Given the description of an element on the screen output the (x, y) to click on. 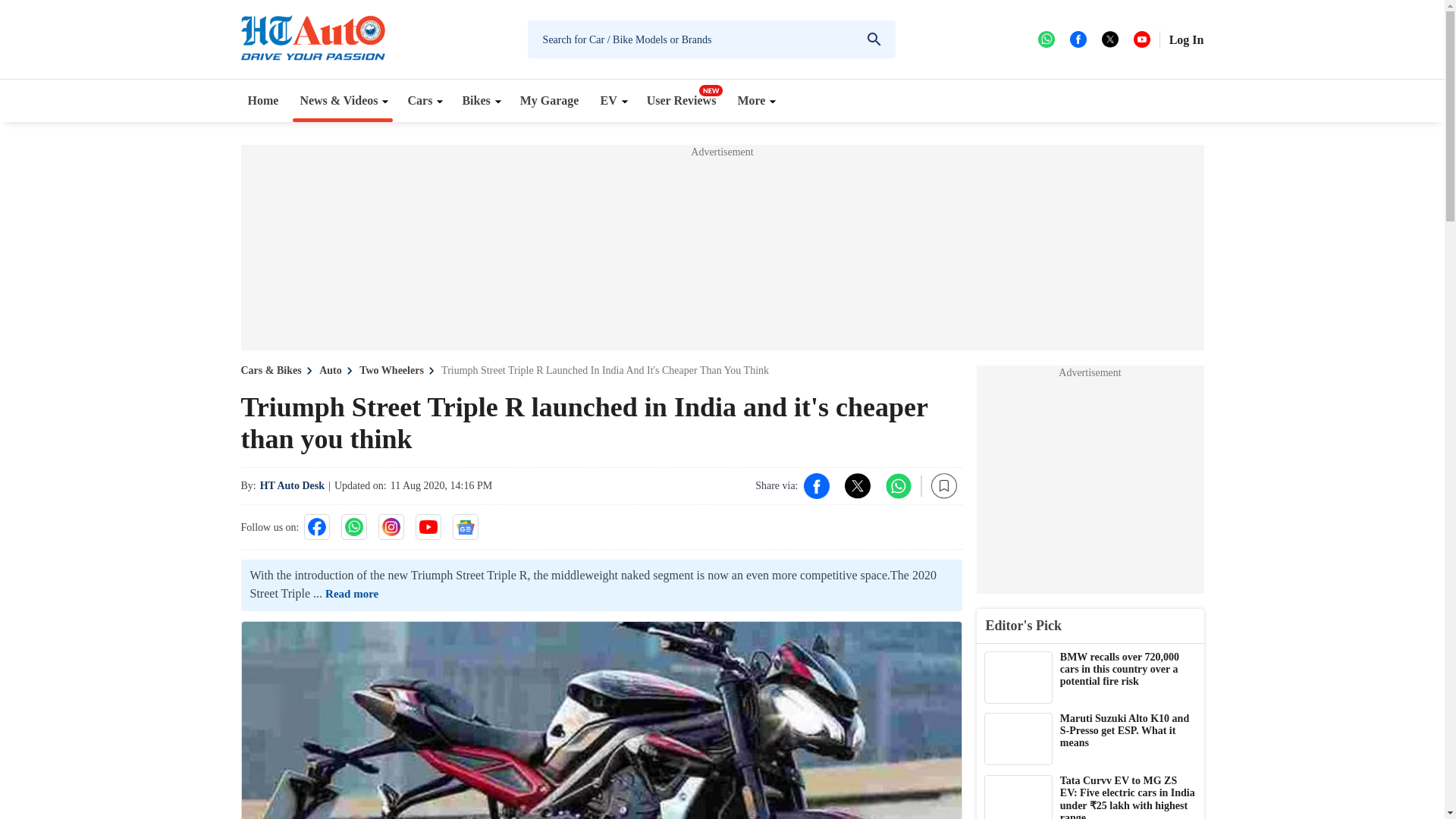
Home (263, 100)
EV (611, 100)
Tweet (857, 485)
Bikes (479, 100)
Log In (1186, 39)
My Garage (549, 100)
Cars (423, 100)
Facebook Share (816, 485)
